Given the description of an element on the screen output the (x, y) to click on. 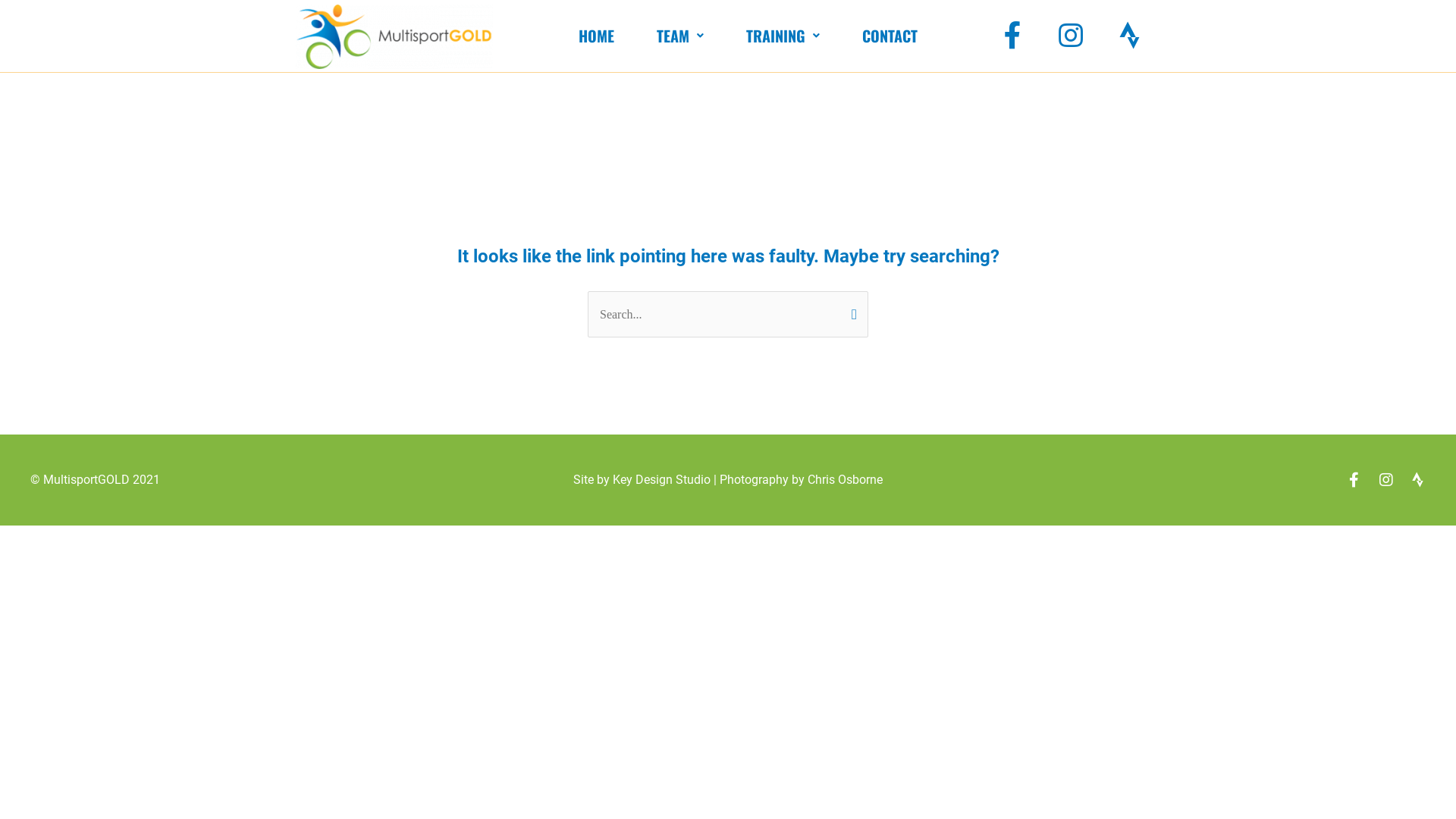
Strava Element type: text (1128, 35)
Instagram Element type: text (1385, 479)
Facebook-f Element type: text (1012, 35)
Facebook-f Element type: text (1353, 479)
TEAM Element type: text (680, 35)
Instagram Element type: text (1070, 35)
Search Element type: text (851, 306)
Strava Element type: text (1417, 479)
Photography by Chris Osborne Element type: text (800, 479)
HOME Element type: text (596, 35)
CONTACT Element type: text (889, 35)
TRAINING Element type: text (782, 35)
